Given the description of an element on the screen output the (x, y) to click on. 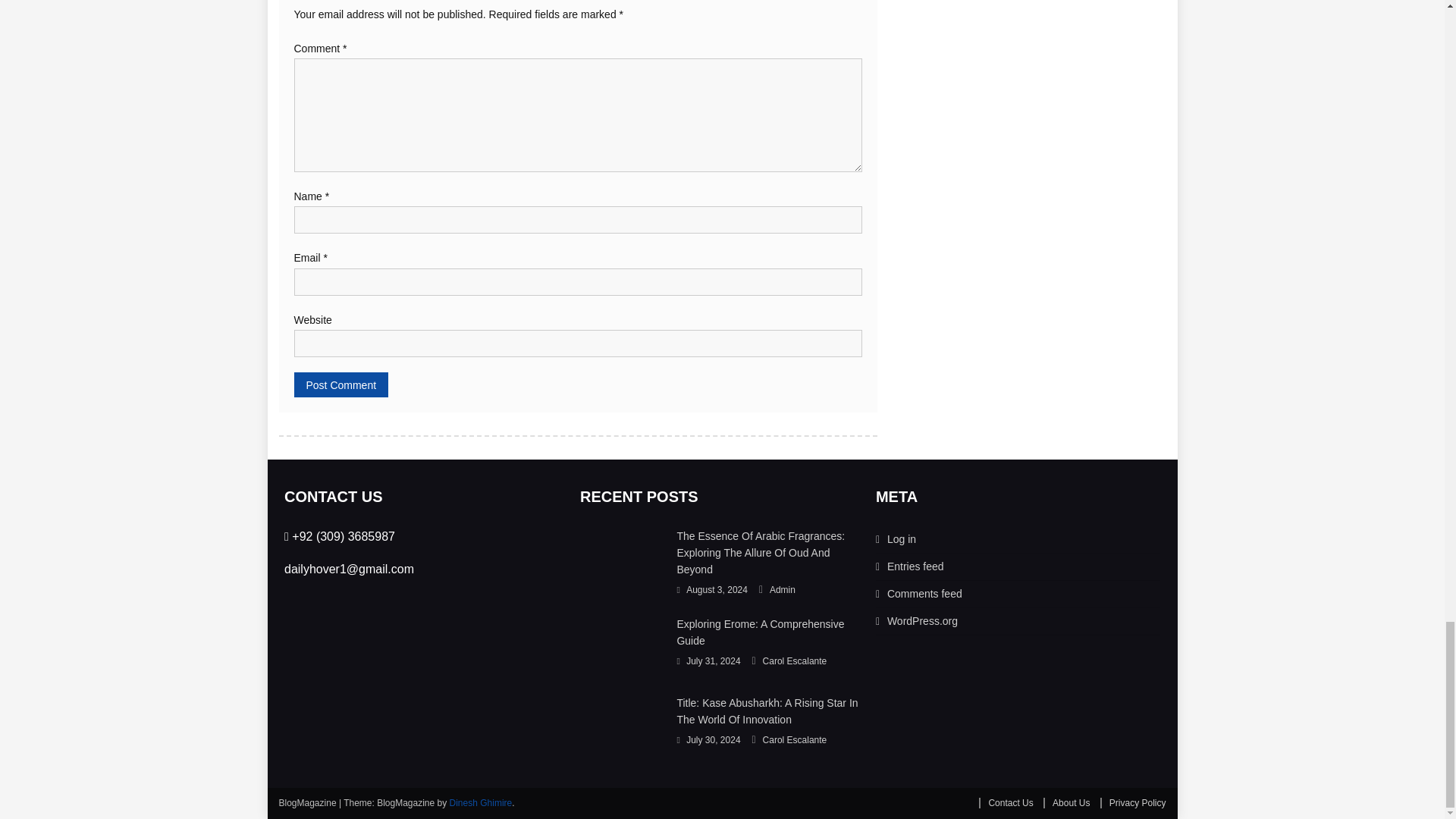
Post Comment (341, 384)
